Given the description of an element on the screen output the (x, y) to click on. 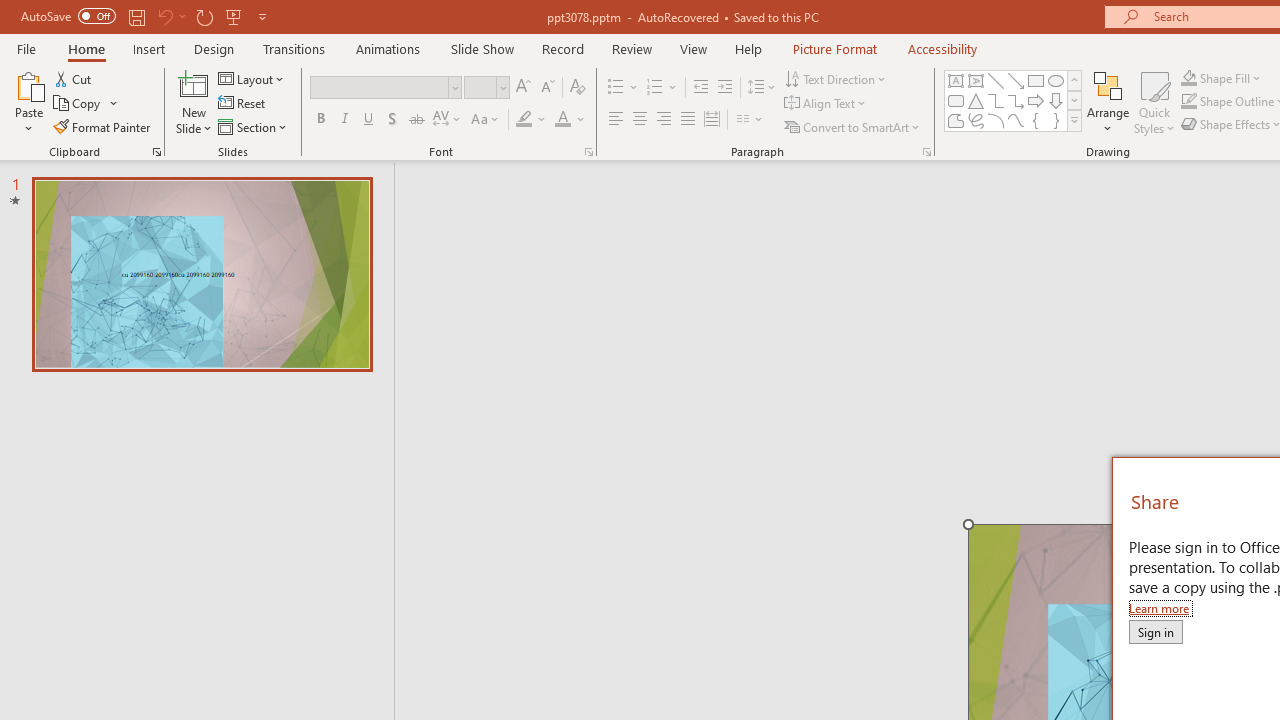
Sign in (1155, 631)
Picture Format (834, 48)
Shape Outline Green, Accent 1 (1188, 101)
